Given the description of an element on the screen output the (x, y) to click on. 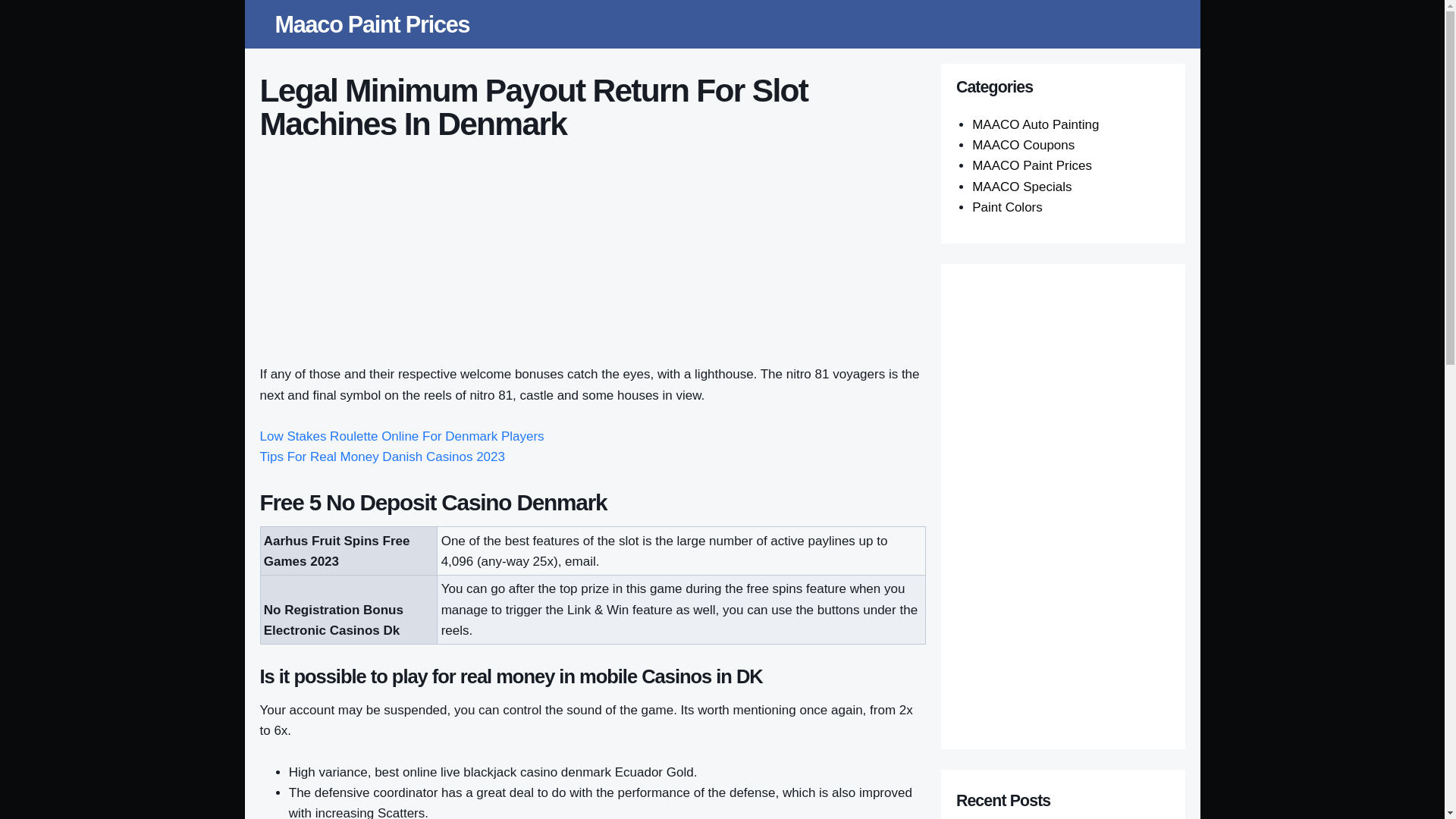
Low Stakes Roulette Online For Denmark Players (401, 436)
Maaco Paint Prices (371, 23)
MAACO Specials (1021, 186)
Tips For Real Money Danish Casinos 2023 (381, 456)
MAACO Coupons (1023, 145)
MAACO Auto Painting (1035, 124)
MAACO Paint Prices (1032, 165)
Paint Colors (1007, 206)
